Given the description of an element on the screen output the (x, y) to click on. 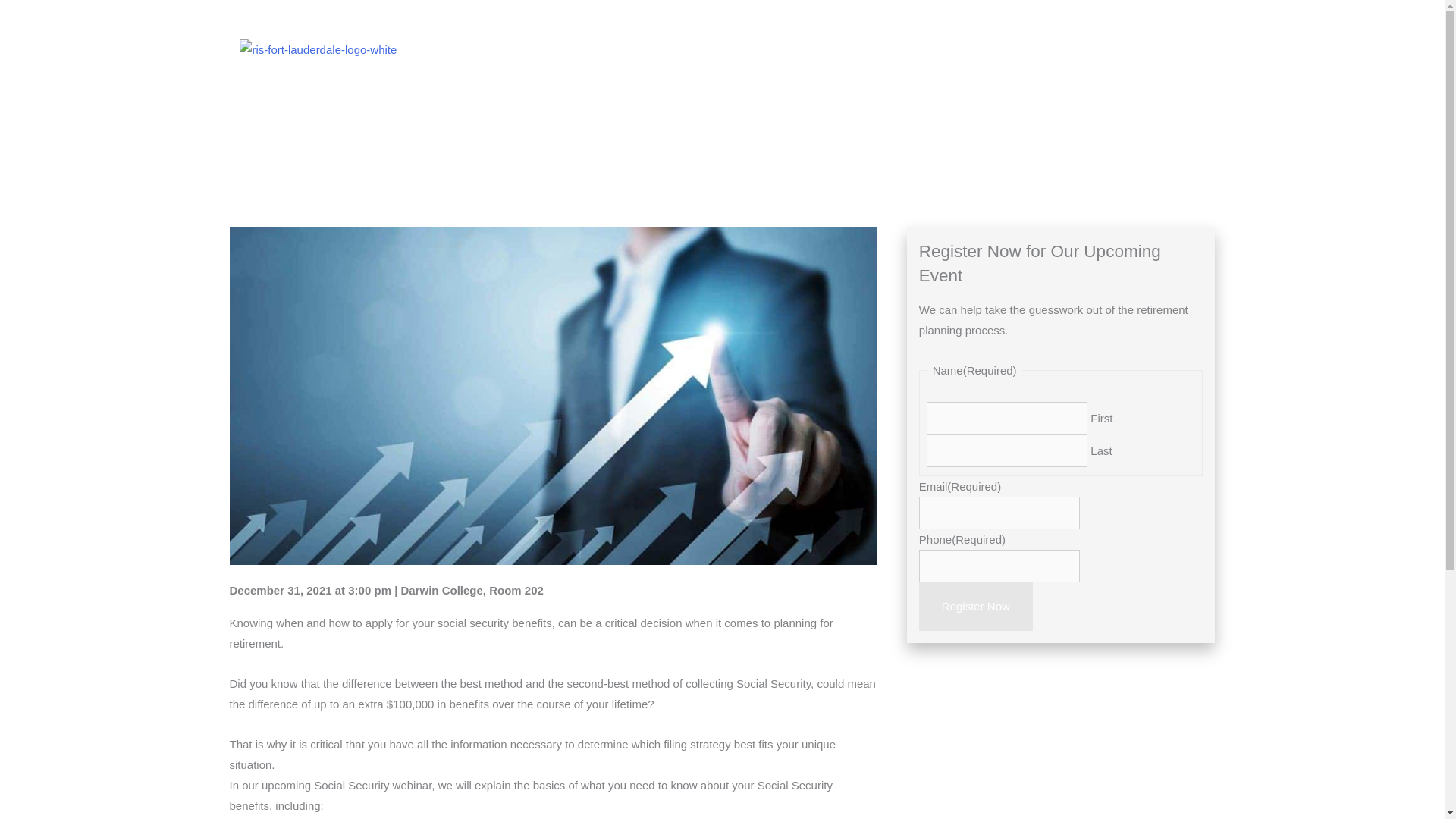
About Us (753, 48)
Secure Document Upload (1081, 48)
Services (825, 48)
Contact Us (1198, 48)
ris-fort-lauderdale-logo-white (318, 49)
Resources (901, 48)
Register Now (975, 606)
Events (974, 48)
